Given the description of an element on the screen output the (x, y) to click on. 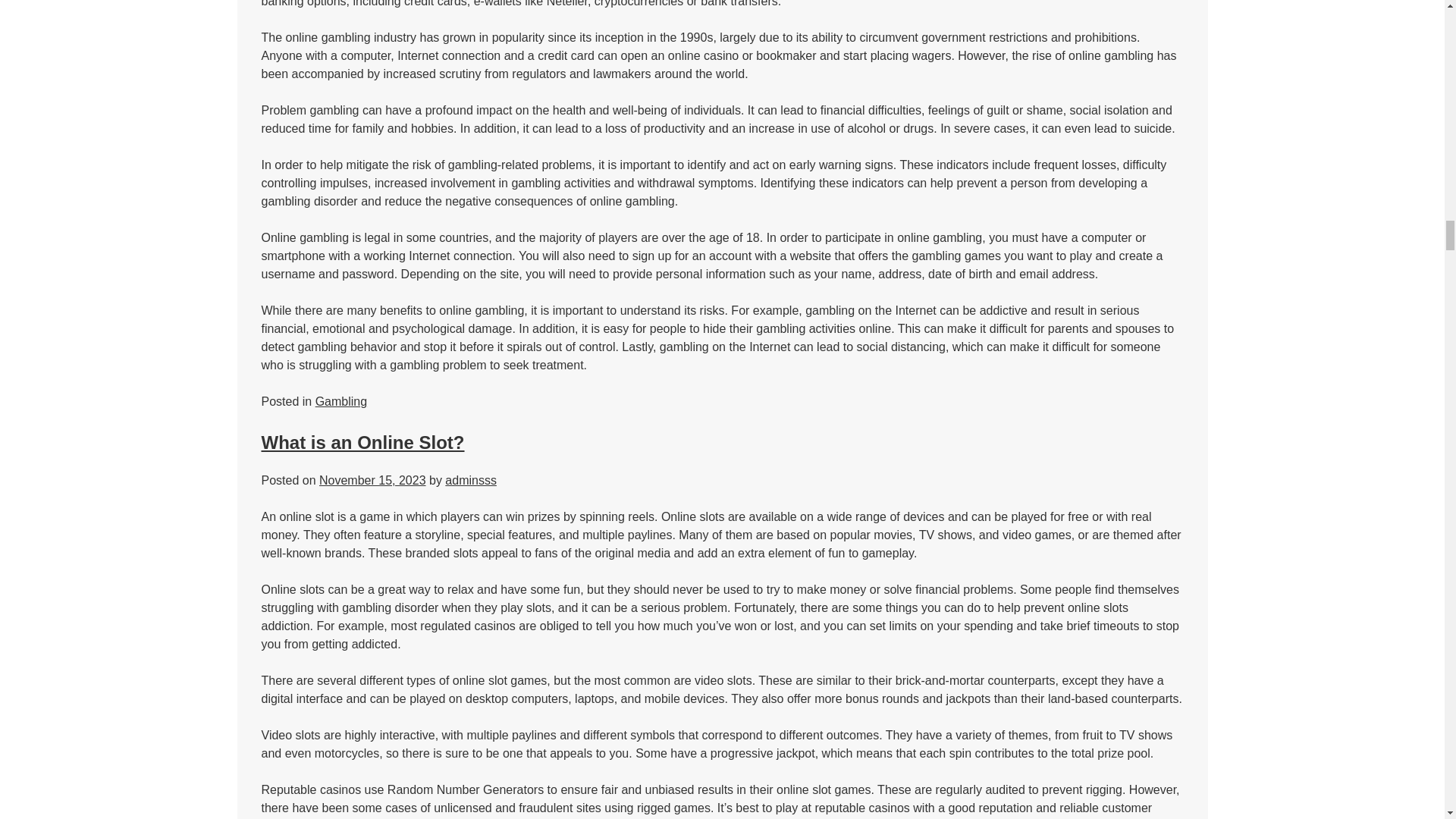
adminsss (470, 480)
November 15, 2023 (372, 480)
What is an Online Slot? (362, 442)
Gambling (340, 400)
